Given the description of an element on the screen output the (x, y) to click on. 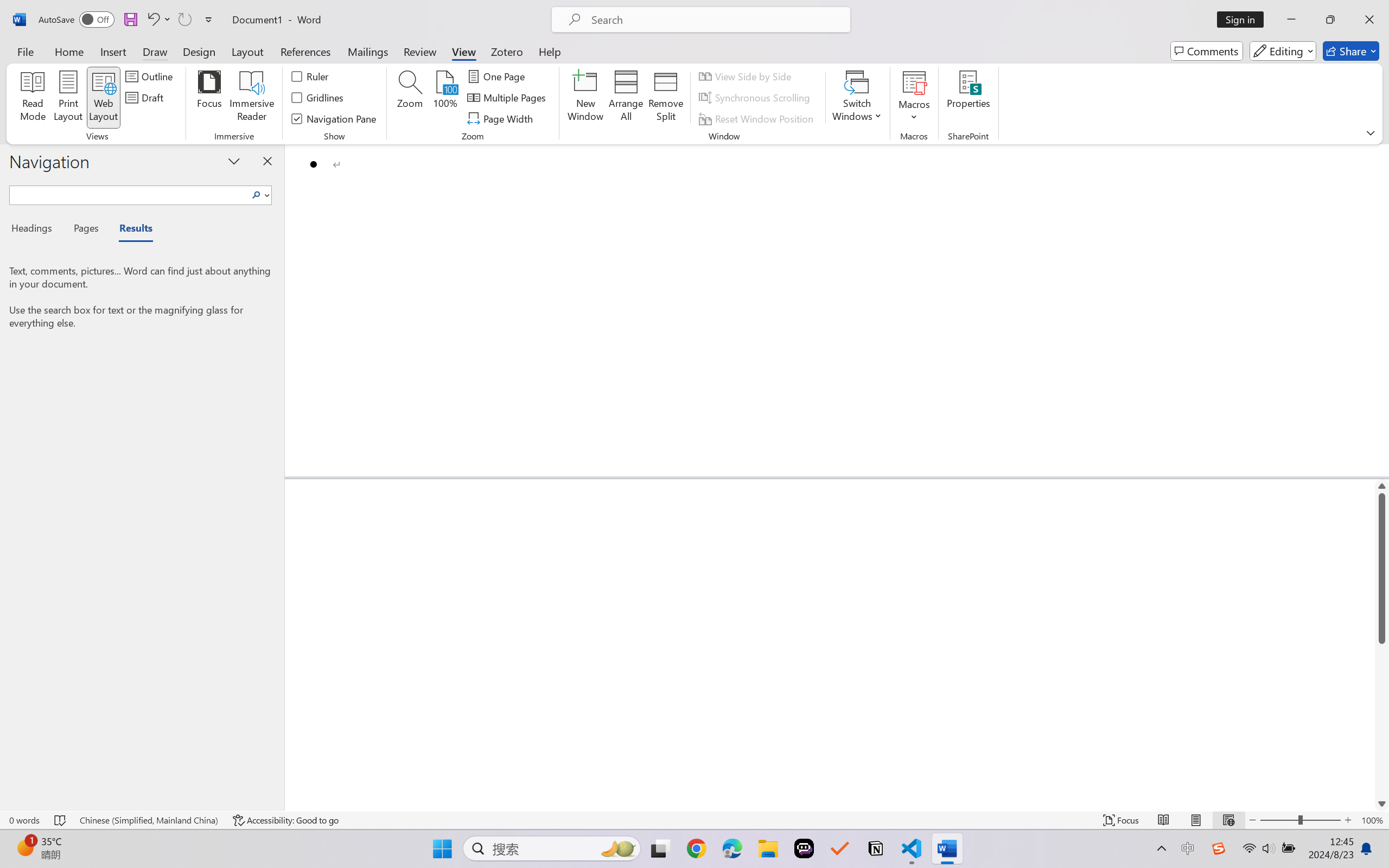
Navigation Pane (334, 118)
Page down (1382, 720)
Zoom 100% (1372, 819)
Line down (1382, 803)
Immersive Reader (251, 97)
Macros (914, 97)
